Given the description of an element on the screen output the (x, y) to click on. 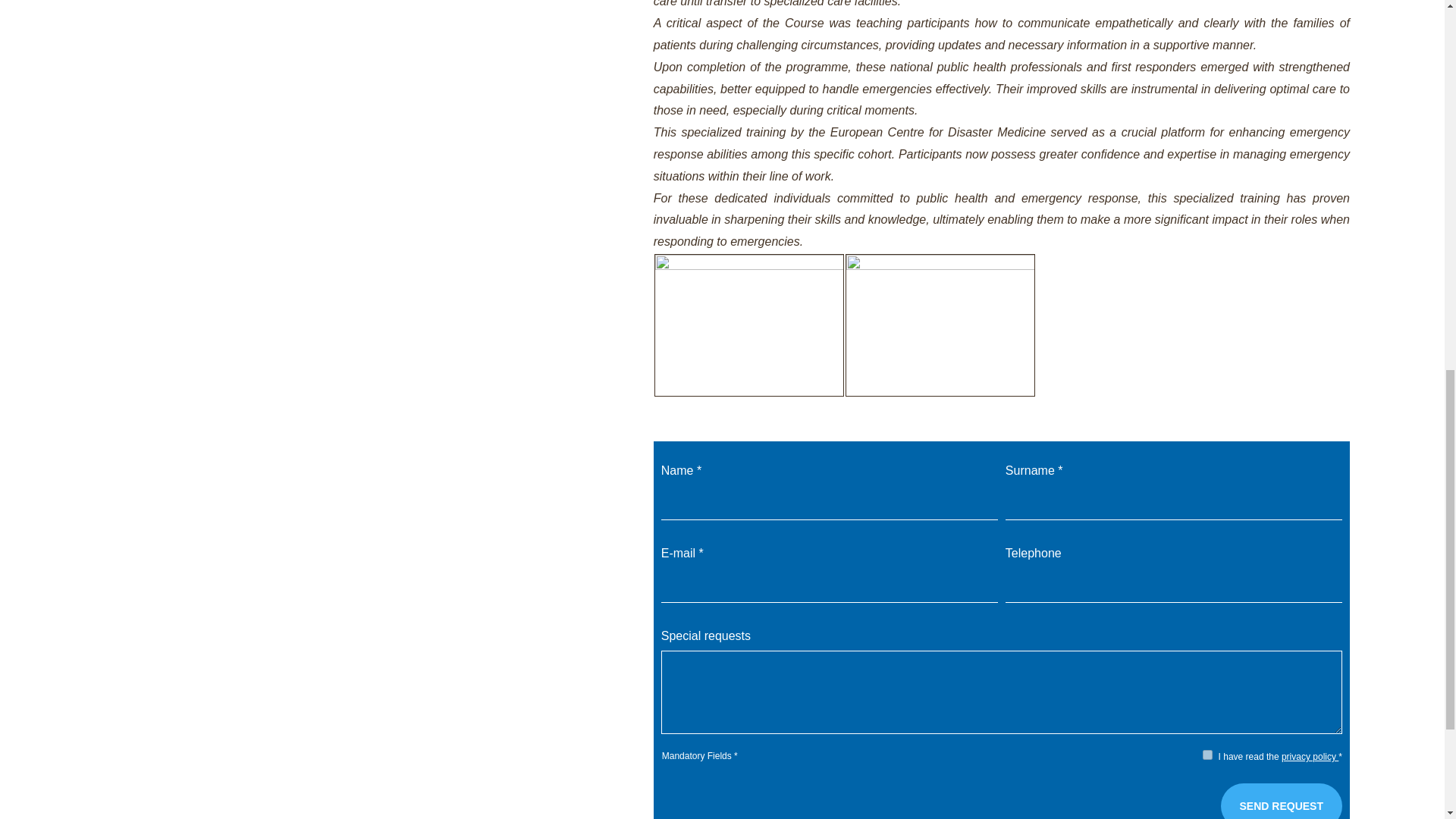
1 (1207, 755)
privacy policy (1309, 756)
Send request (1281, 800)
